Given the description of an element on the screen output the (x, y) to click on. 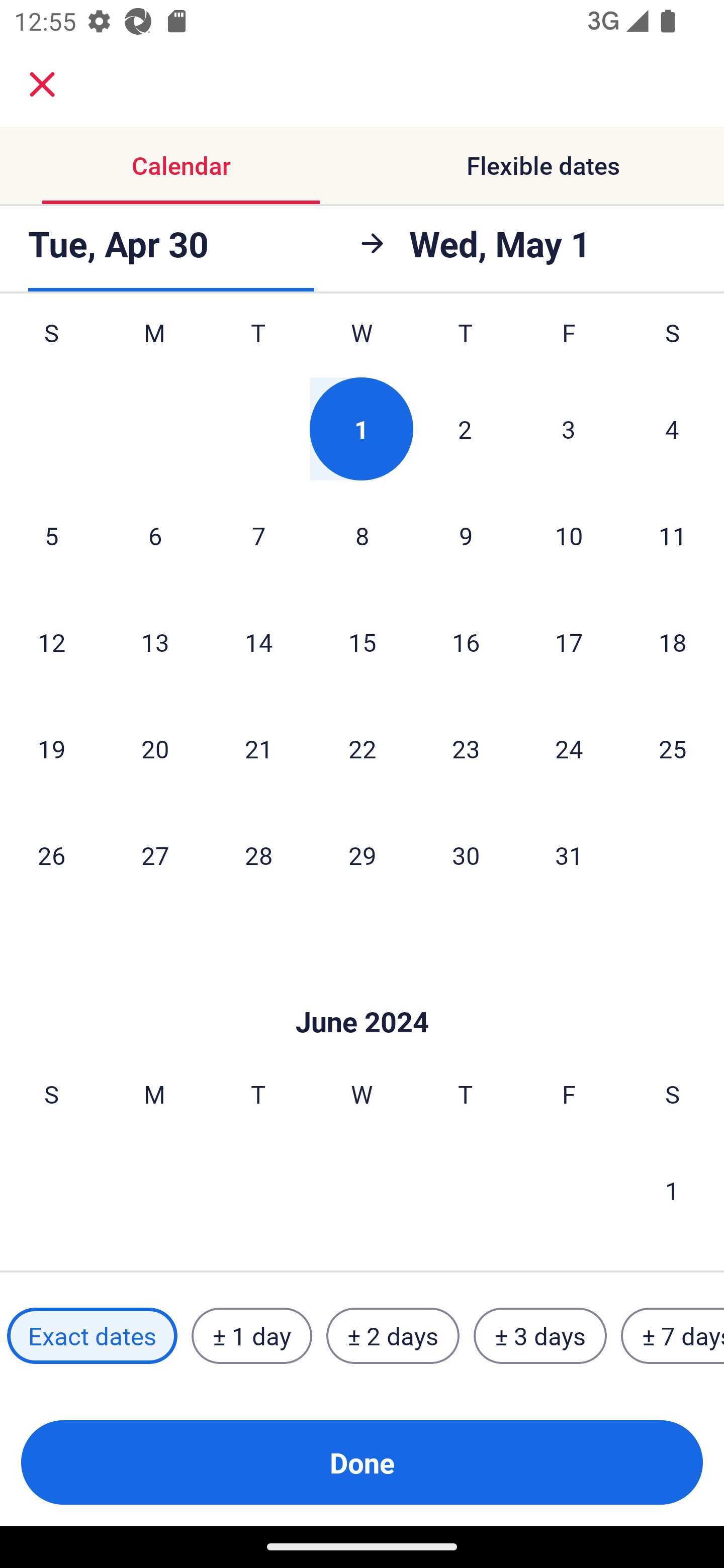
close. (42, 84)
Flexible dates (542, 164)
2 Thursday, May 2, 2024 (464, 428)
3 Friday, May 3, 2024 (568, 428)
4 Saturday, May 4, 2024 (672, 428)
5 Sunday, May 5, 2024 (51, 535)
6 Monday, May 6, 2024 (155, 535)
7 Tuesday, May 7, 2024 (258, 535)
8 Wednesday, May 8, 2024 (362, 535)
9 Thursday, May 9, 2024 (465, 535)
10 Friday, May 10, 2024 (569, 535)
11 Saturday, May 11, 2024 (672, 535)
12 Sunday, May 12, 2024 (51, 642)
13 Monday, May 13, 2024 (155, 642)
14 Tuesday, May 14, 2024 (258, 642)
15 Wednesday, May 15, 2024 (362, 642)
16 Thursday, May 16, 2024 (465, 642)
17 Friday, May 17, 2024 (569, 642)
18 Saturday, May 18, 2024 (672, 642)
19 Sunday, May 19, 2024 (51, 748)
20 Monday, May 20, 2024 (155, 748)
21 Tuesday, May 21, 2024 (258, 748)
22 Wednesday, May 22, 2024 (362, 748)
23 Thursday, May 23, 2024 (465, 748)
24 Friday, May 24, 2024 (569, 748)
25 Saturday, May 25, 2024 (672, 748)
26 Sunday, May 26, 2024 (51, 854)
27 Monday, May 27, 2024 (155, 854)
28 Tuesday, May 28, 2024 (258, 854)
29 Wednesday, May 29, 2024 (362, 854)
30 Thursday, May 30, 2024 (465, 854)
31 Friday, May 31, 2024 (569, 854)
Skip to Done (362, 992)
Exact dates (92, 1335)
± 1 day (251, 1335)
± 2 days (392, 1335)
± 3 days (539, 1335)
± 7 days (672, 1335)
Done (361, 1462)
